Given the description of an element on the screen output the (x, y) to click on. 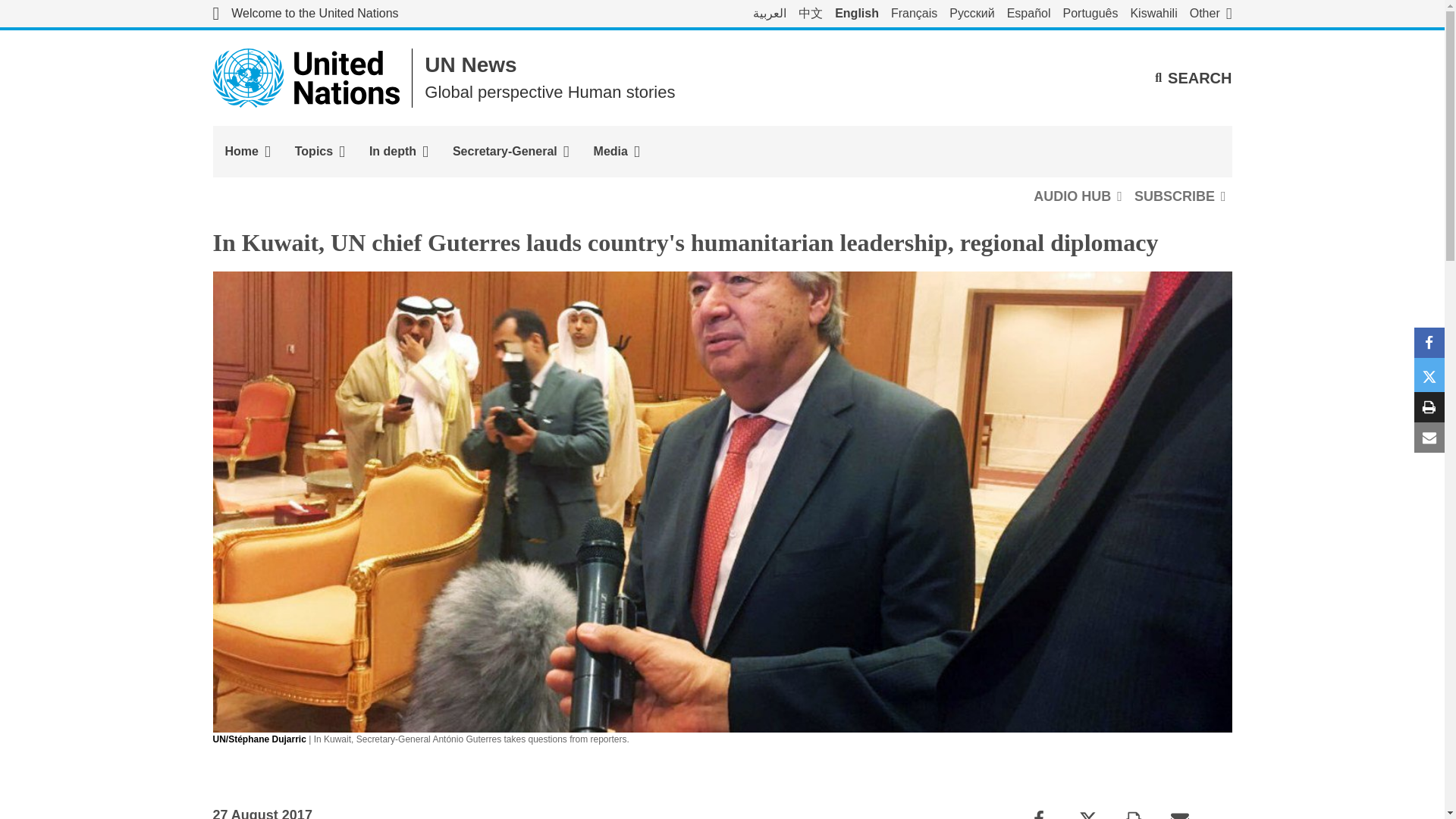
Other (1210, 13)
SEARCH (1192, 77)
UN News (470, 64)
Home (247, 151)
United Nations (304, 13)
United Nations (305, 76)
Home (247, 151)
Topics (319, 151)
Kiswahili (1152, 13)
English (856, 13)
